Given the description of an element on the screen output the (x, y) to click on. 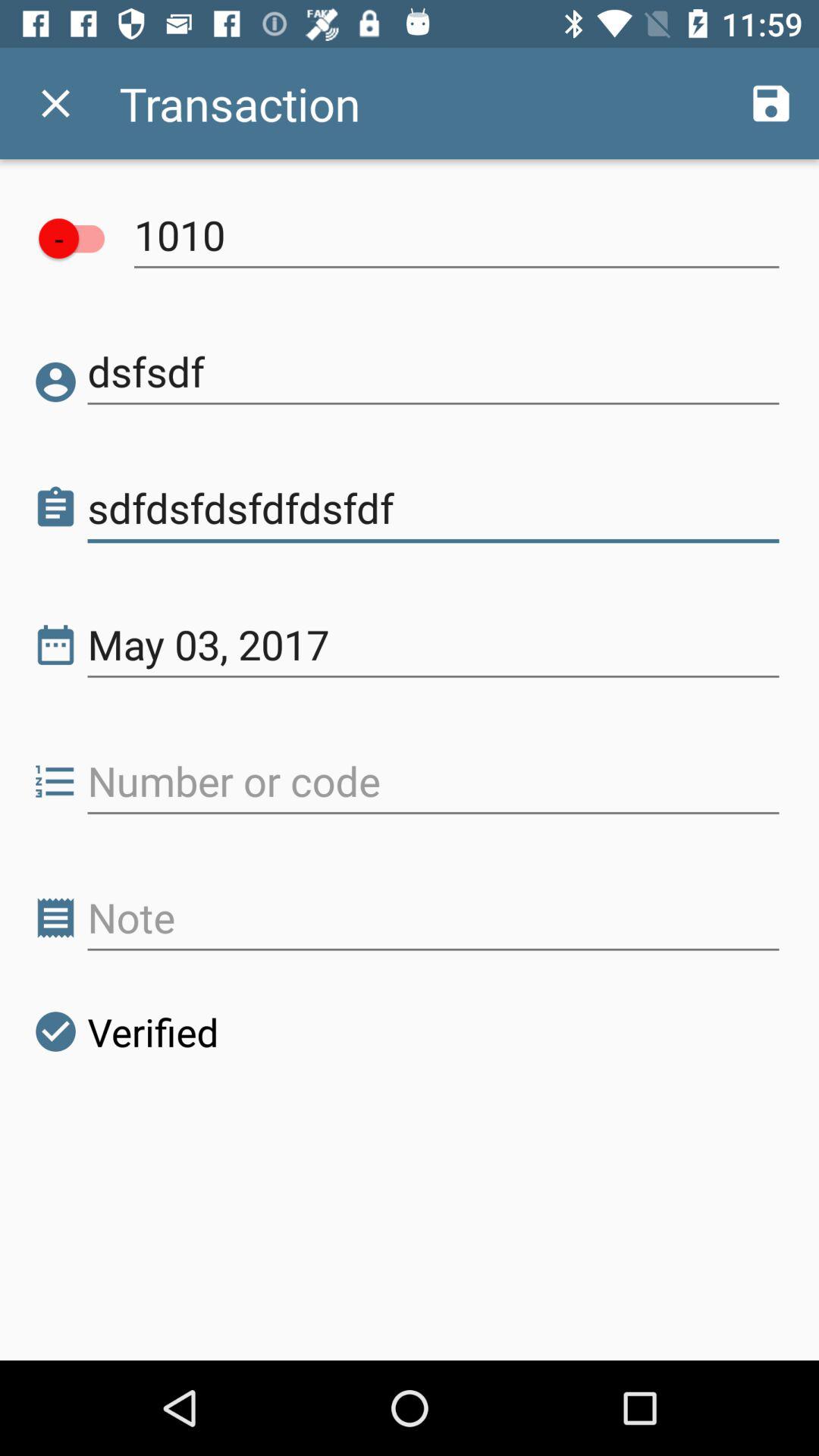
select item above dsfsdf icon (78, 238)
